Given the description of an element on the screen output the (x, y) to click on. 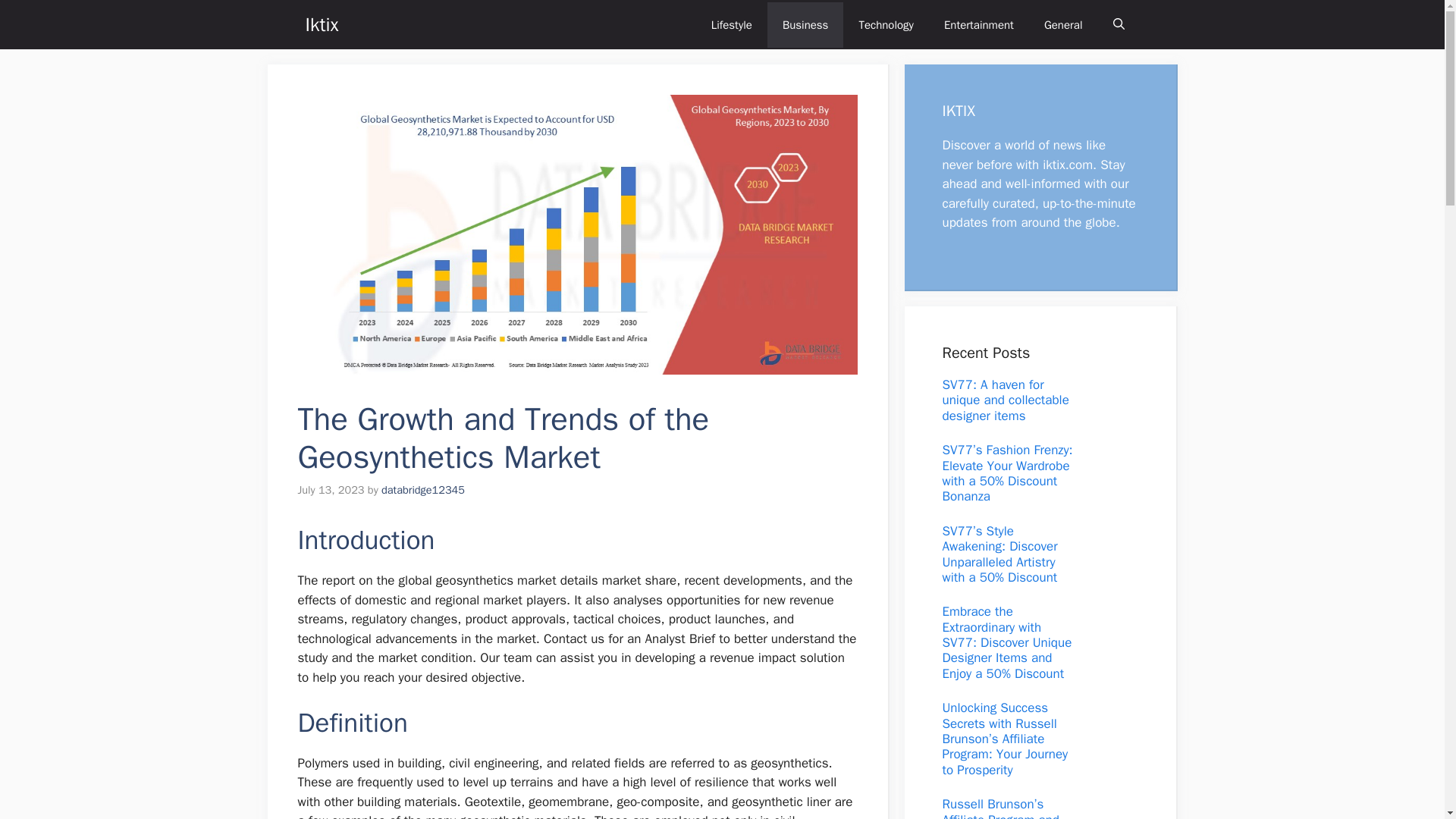
databridge12345 (422, 489)
SV77: A haven for unique and collectable designer items (1005, 400)
Business (805, 23)
Technology (885, 23)
General (1063, 23)
Entertainment (978, 23)
View all posts by databridge12345 (422, 489)
Lifestyle (731, 23)
